Given the description of an element on the screen output the (x, y) to click on. 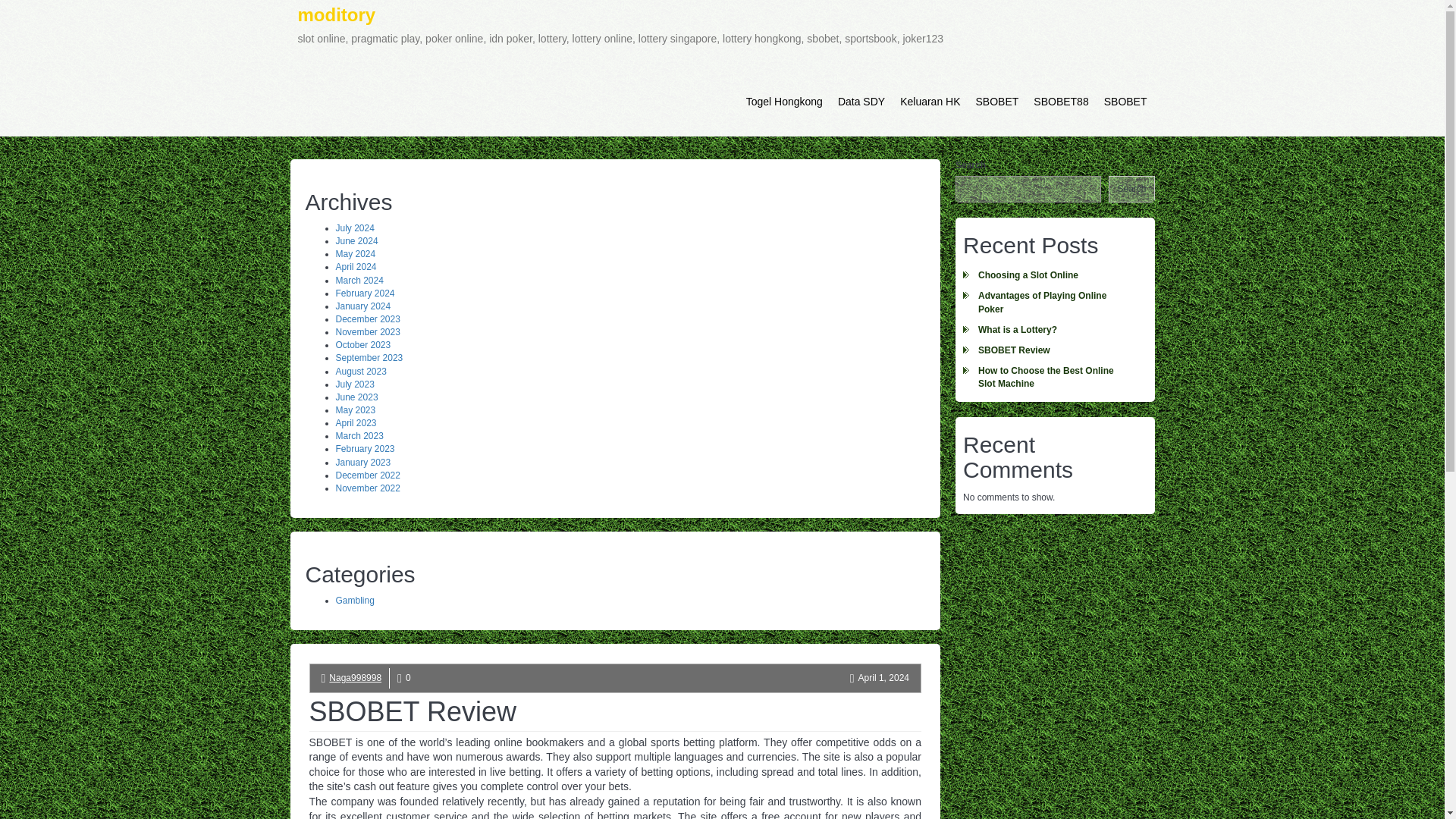
SBOBET (997, 101)
Keluaran HK (930, 101)
Naga998998 (355, 677)
Data SDY (860, 101)
May 2023 (354, 409)
January 2023 (362, 462)
October 2023 (362, 344)
August 2023 (359, 371)
SBOBET Review (1054, 350)
How to Choose the Best Online Slot Machine (1054, 377)
SBOBET88 (1061, 101)
SBOBET (1125, 101)
Data SDY (860, 101)
Search (1131, 189)
June 2023 (355, 397)
